Given the description of an element on the screen output the (x, y) to click on. 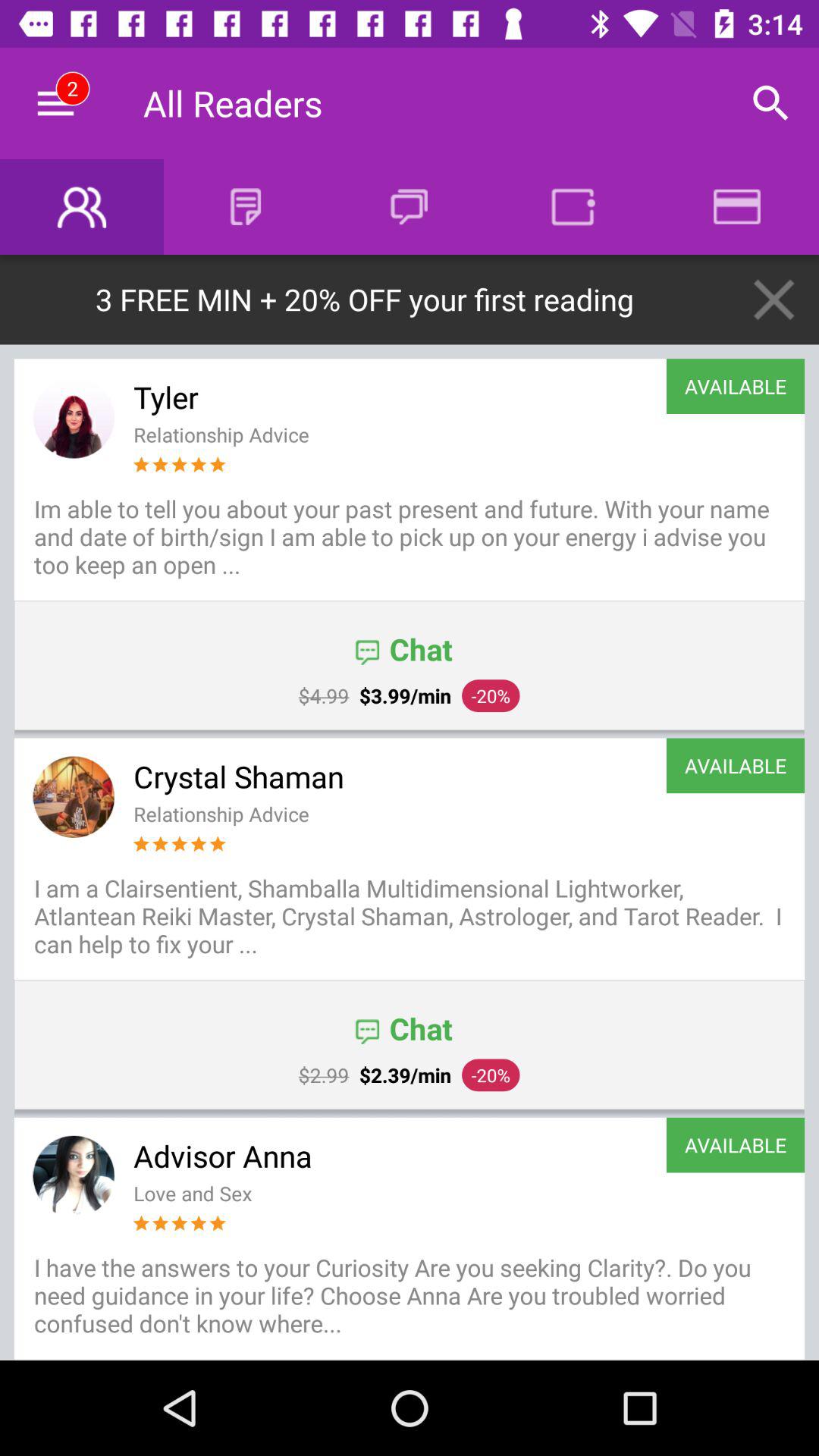
open the item next to the all readers icon (55, 103)
